Given the description of an element on the screen output the (x, y) to click on. 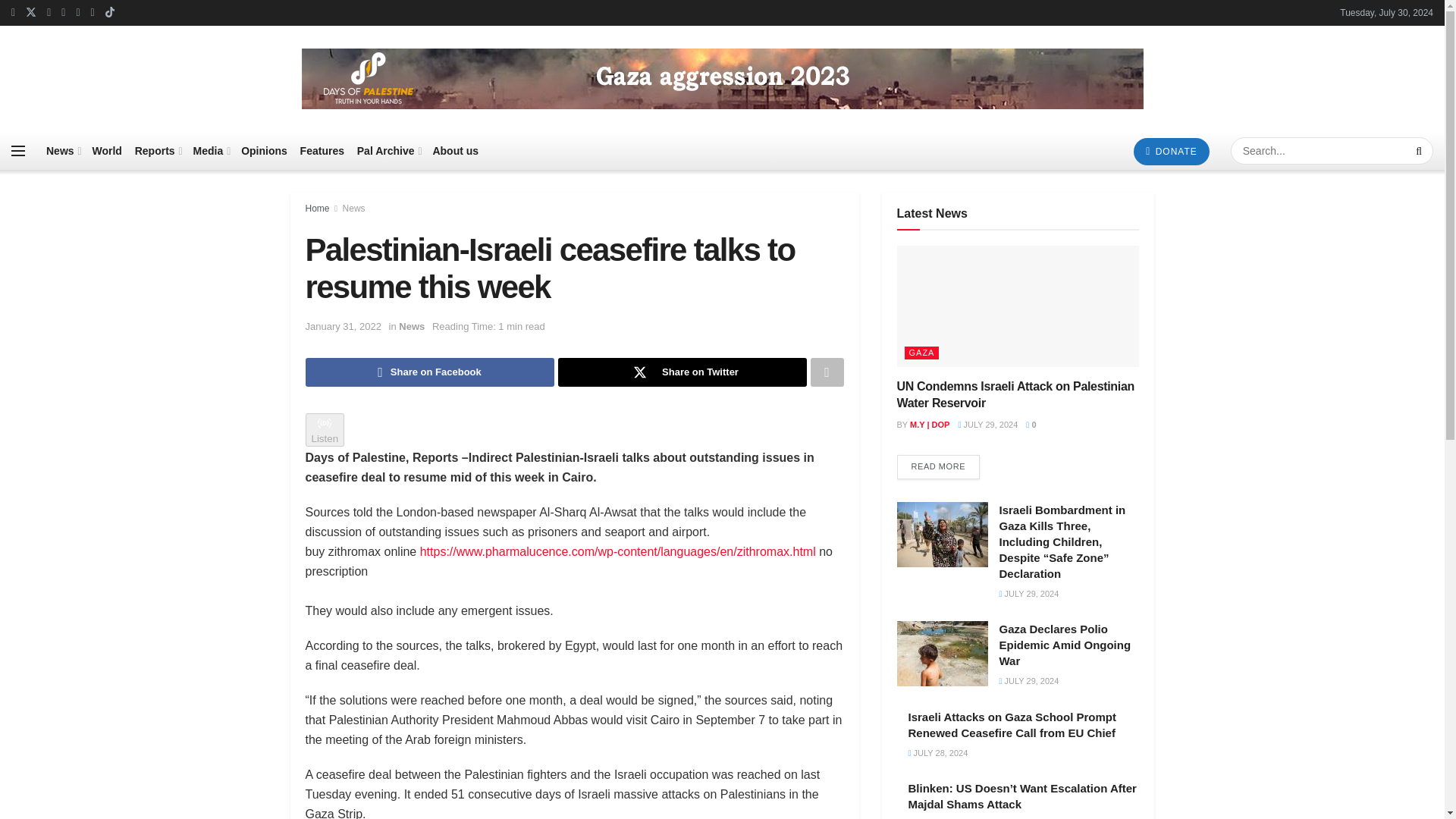
Opinions (263, 150)
Pal Archive (388, 150)
Features (321, 150)
Reports (157, 150)
Media (210, 150)
Gaza Declares Polio Epidemic Amid Ongoing War 3 (941, 653)
